Given the description of an element on the screen output the (x, y) to click on. 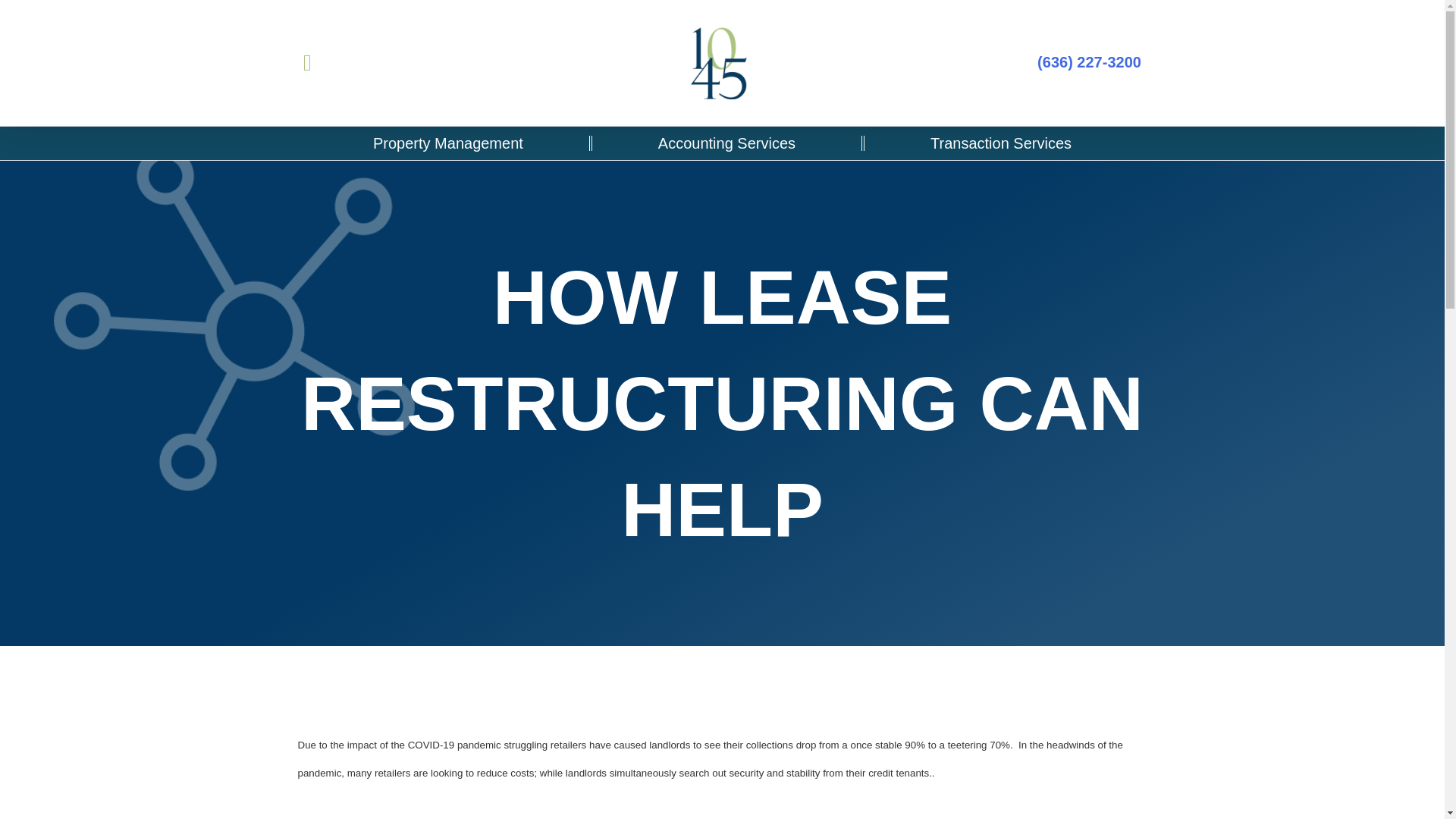
Transaction Services (1000, 142)
Property Management (448, 142)
Accounting Services (727, 142)
